Given the description of an element on the screen output the (x, y) to click on. 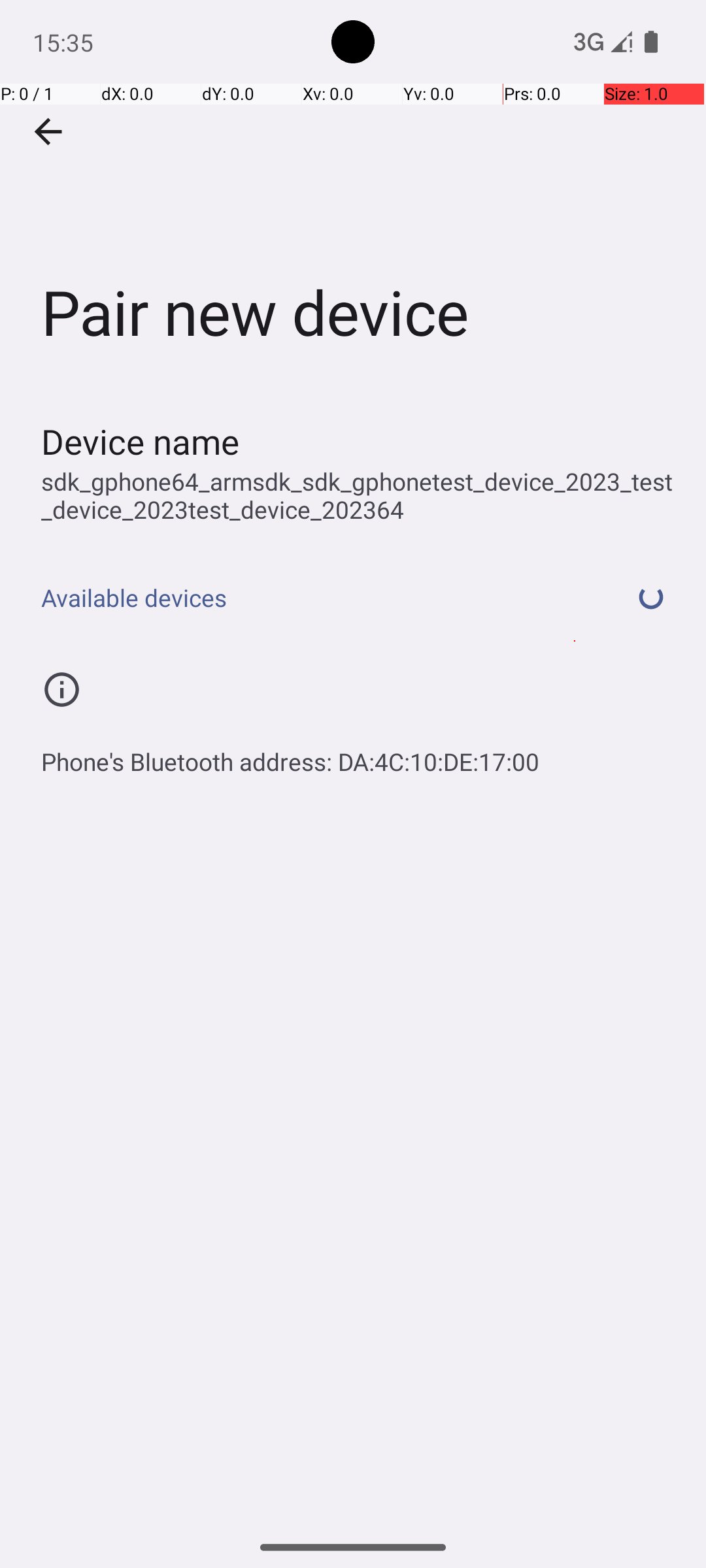
sdk_gphone64_armsdk_sdk_gphonetest_device_2023_test_device_2023test_device_202364 Element type: android.widget.TextView (359, 494)
